Given the description of an element on the screen output the (x, y) to click on. 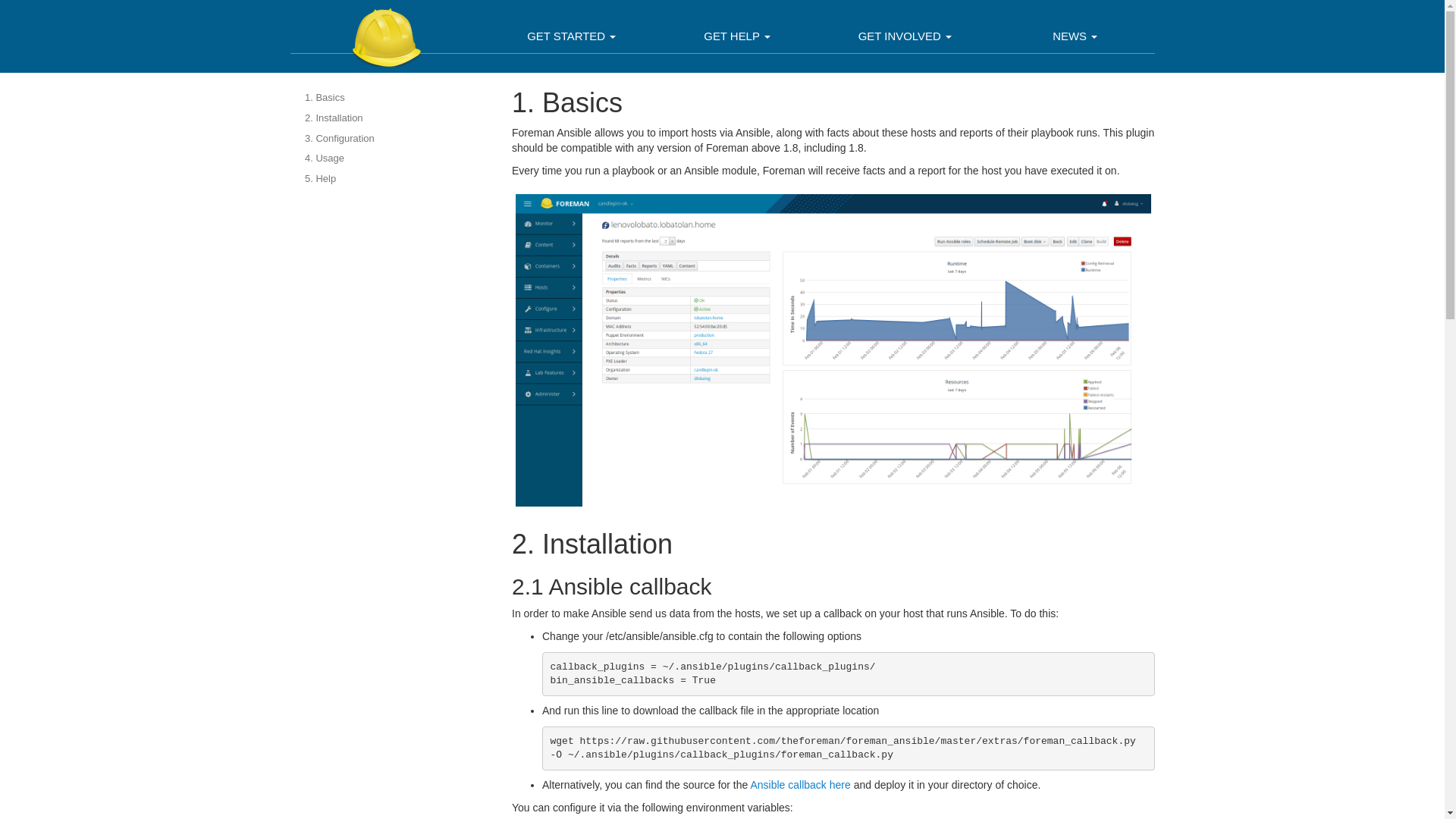
GET HELP (736, 37)
5. Help (389, 178)
GET STARTED (571, 37)
4. Usage (389, 158)
1. Basics (389, 97)
NEWS (1074, 37)
GET INVOLVED (904, 37)
Ansible callback here (799, 784)
3. Configuration (389, 138)
2. Installation (389, 118)
